Given the description of an element on the screen output the (x, y) to click on. 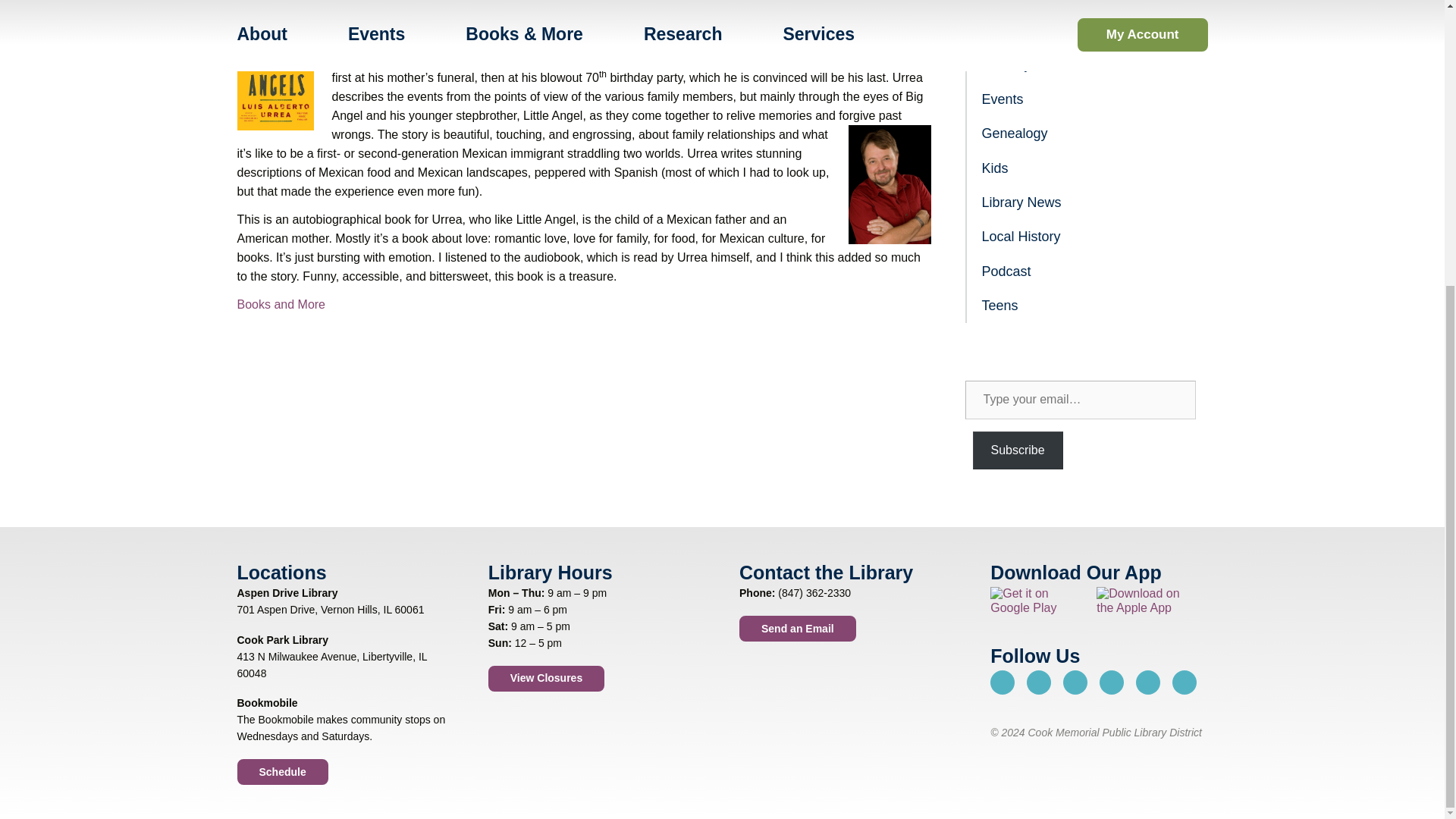
Please fill in this field. (1079, 399)
